Given the description of an element on the screen output the (x, y) to click on. 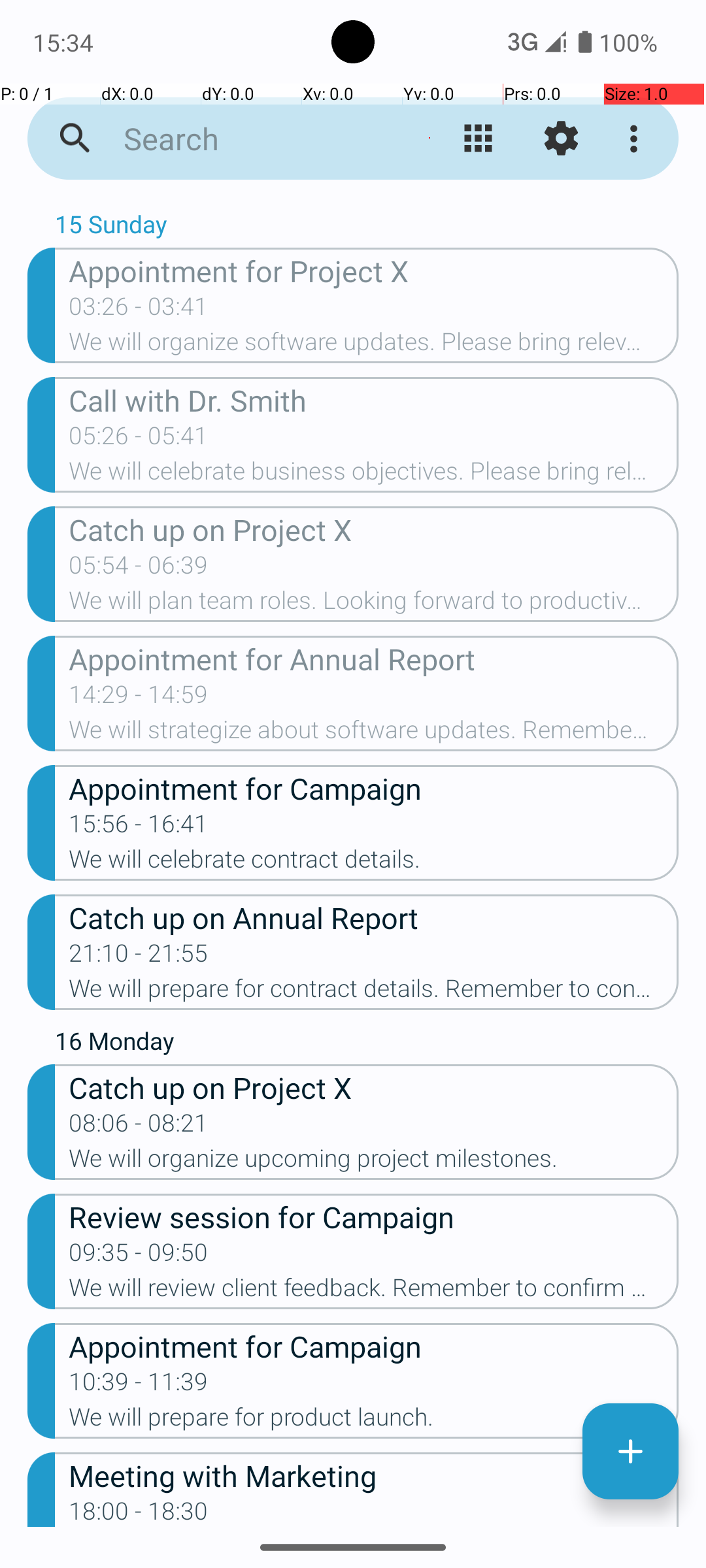
15 Sunday Element type: android.widget.TextView (366, 227)
16 Monday Element type: android.widget.TextView (366, 1043)
Appointment for Project X Element type: android.widget.TextView (373, 269)
03:26 - 03:41 Element type: android.widget.TextView (137, 309)
We will organize software updates. Please bring relevant documents. Element type: android.widget.TextView (373, 345)
Call with Dr. Smith Element type: android.widget.TextView (373, 399)
05:26 - 05:41 Element type: android.widget.TextView (137, 439)
We will celebrate business objectives. Please bring relevant documents. Element type: android.widget.TextView (373, 474)
05:54 - 06:39 Element type: android.widget.TextView (137, 568)
We will plan team roles. Looking forward to productive discussions. Element type: android.widget.TextView (373, 603)
Appointment for Annual Report Element type: android.widget.TextView (373, 657)
14:29 - 14:59 Element type: android.widget.TextView (137, 698)
We will strategize about software updates. Remember to confirm attendance. Element type: android.widget.TextView (373, 733)
Appointment for Campaign Element type: android.widget.TextView (373, 787)
15:56 - 16:41 Element type: android.widget.TextView (137, 827)
We will celebrate contract details. Element type: android.widget.TextView (373, 862)
21:10 - 21:55 Element type: android.widget.TextView (137, 956)
We will prepare for contract details. Remember to confirm attendance. Element type: android.widget.TextView (373, 992)
08:06 - 08:21 Element type: android.widget.TextView (137, 1126)
We will organize upcoming project milestones. Element type: android.widget.TextView (373, 1161)
Review session for Campaign Element type: android.widget.TextView (373, 1215)
09:35 - 09:50 Element type: android.widget.TextView (137, 1256)
We will review client feedback. Remember to confirm attendance. Element type: android.widget.TextView (373, 1291)
10:39 - 11:39 Element type: android.widget.TextView (137, 1385)
We will prepare for product launch. Element type: android.widget.TextView (373, 1420)
Meeting with Marketing Element type: android.widget.TextView (373, 1474)
18:00 - 18:30 Element type: android.widget.TextView (137, 1511)
